Given the description of an element on the screen output the (x, y) to click on. 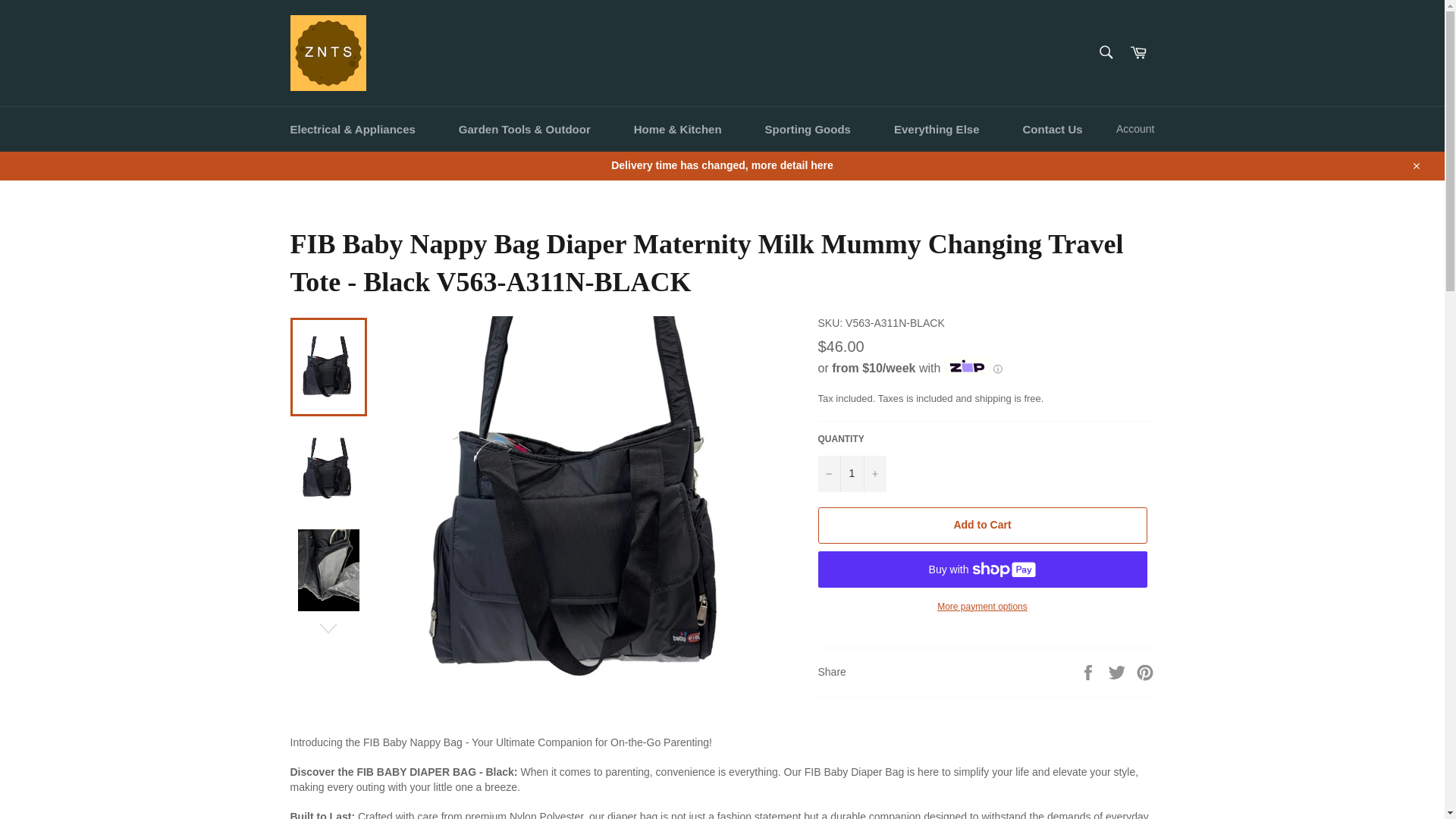
Tweet on Twitter (1118, 671)
Pin on Pinterest (1144, 671)
1 (850, 473)
Share on Facebook (1089, 671)
